Given the description of an element on the screen output the (x, y) to click on. 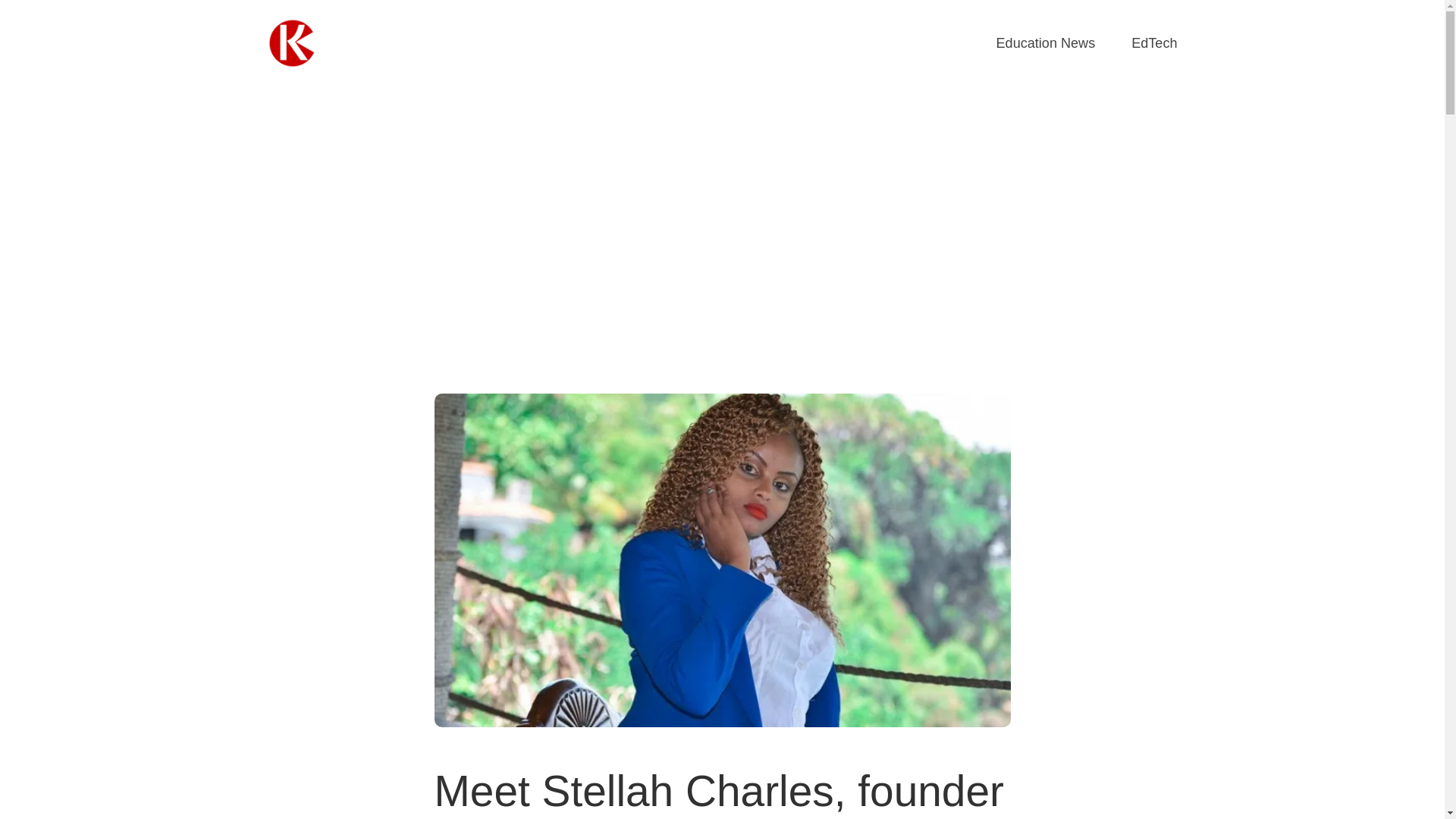
Education News (1045, 43)
EdTech (1153, 43)
